Given the description of an element on the screen output the (x, y) to click on. 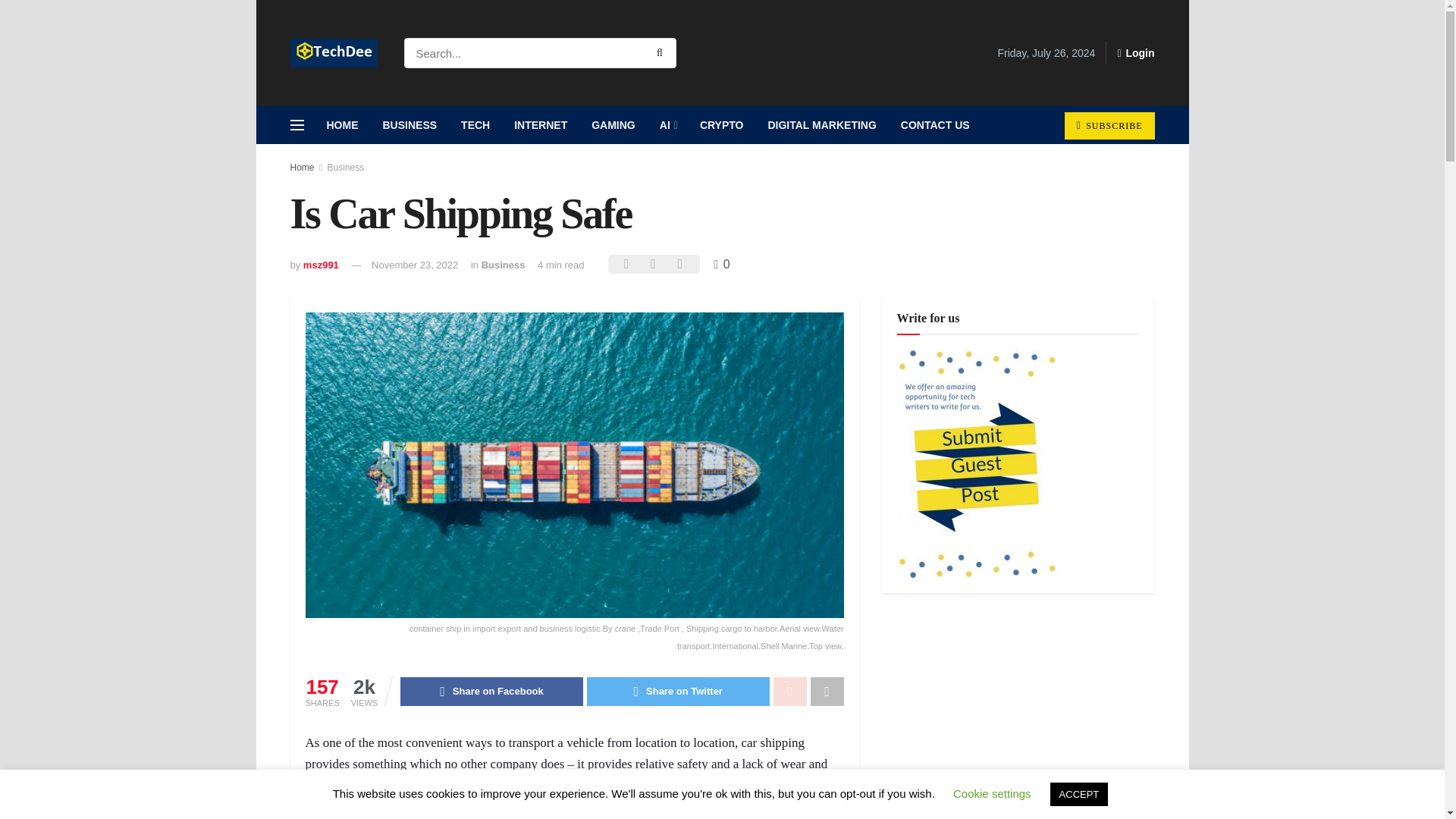
Home (301, 167)
HOME (341, 125)
Business (503, 265)
msz991 (320, 265)
November 23, 2022 (414, 265)
INTERNET (540, 125)
Business (346, 167)
TECH (475, 125)
CRYPTO (721, 125)
AI (667, 125)
DIGITAL MARKETING (821, 125)
CONTACT US (934, 125)
GAMING (613, 125)
SUBSCRIBE (1109, 125)
BUSINESS (408, 125)
